Given the description of an element on the screen output the (x, y) to click on. 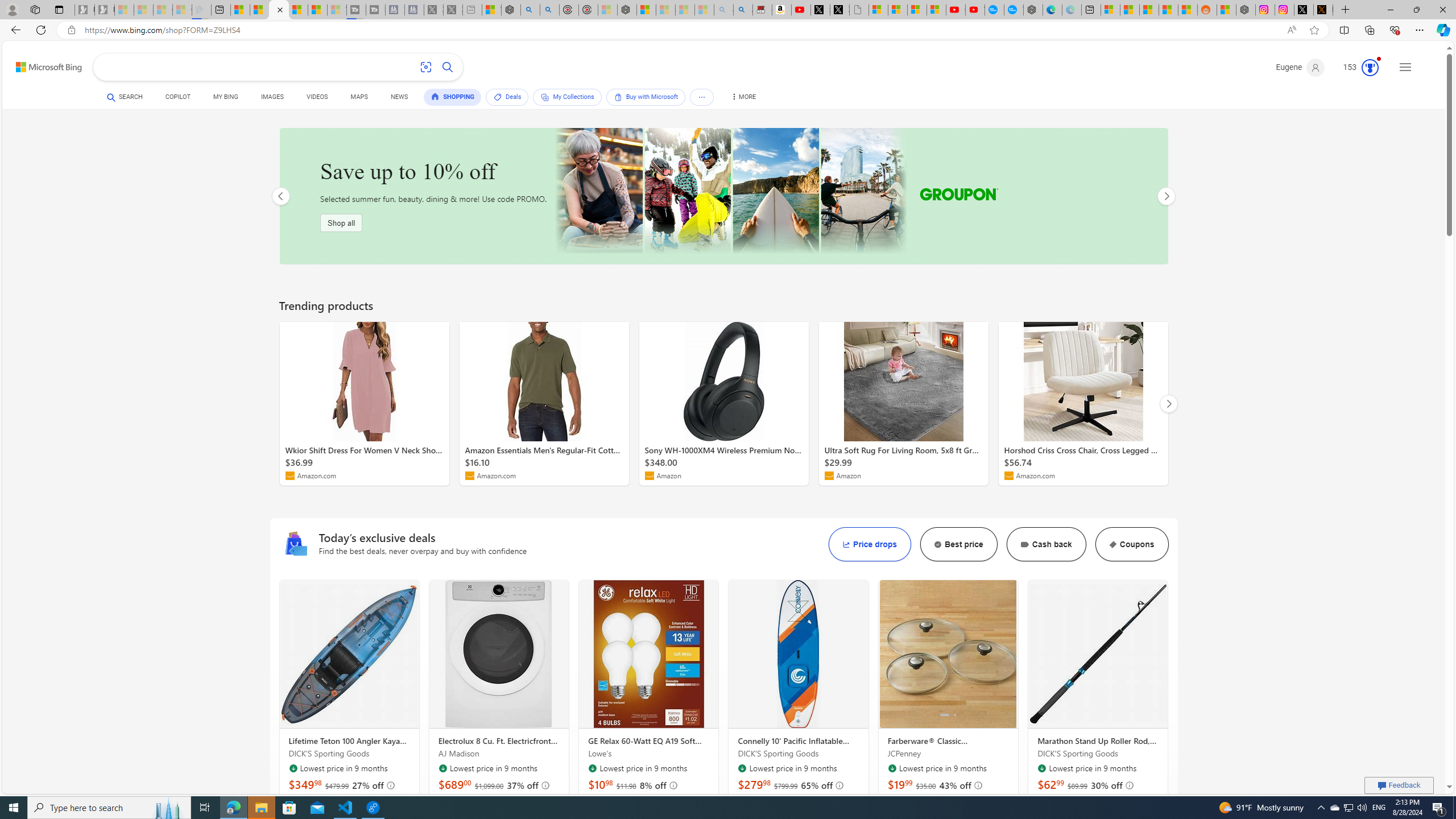
Streaming Coverage | T3 - Sleeping (356, 9)
Search (447, 66)
Untitled (858, 9)
YouTube Kids - An App Created for Kids to Explore Content (975, 9)
IMAGES (272, 96)
amazon - Search - Sleeping (723, 9)
Amazon Echo Dot PNG - Search Images (742, 9)
MY BING (224, 98)
sh-button-icon Best price (958, 544)
